Given the description of an element on the screen output the (x, y) to click on. 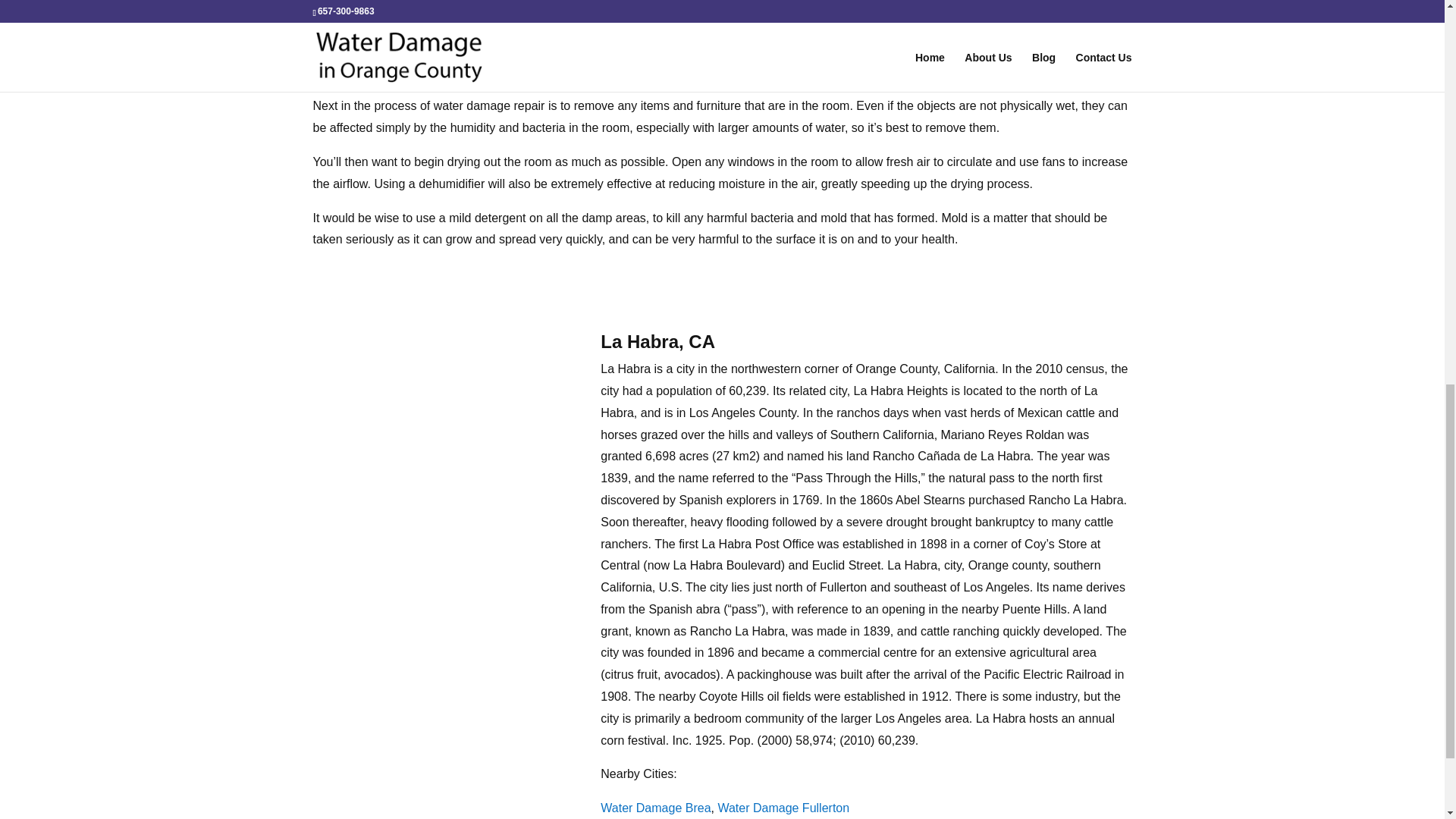
Water Damage Brea (654, 807)
Water Damage Fullerton (782, 807)
